Given the description of an element on the screen output the (x, y) to click on. 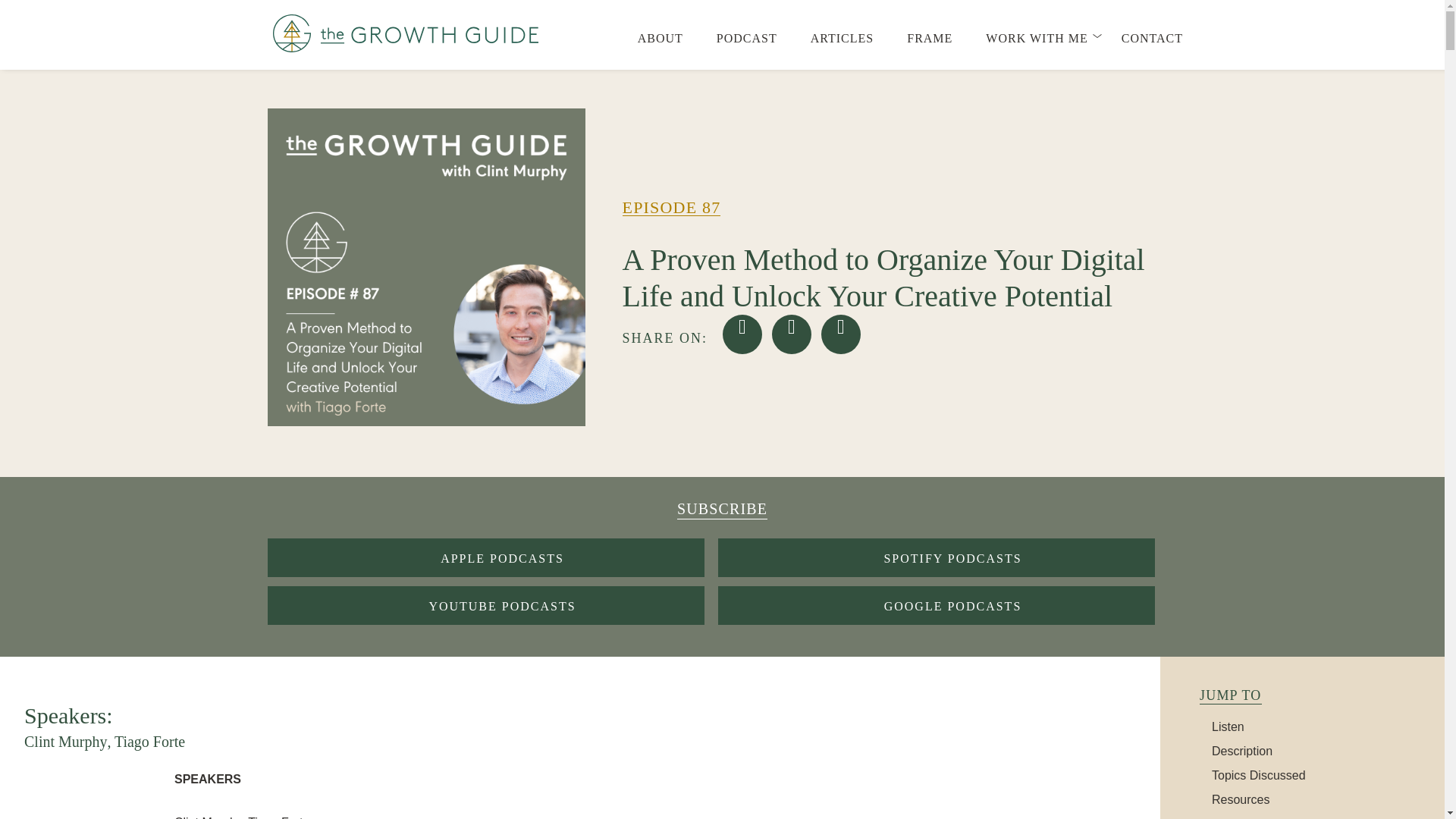
APPLE PODCASTS (484, 557)
SPOTIFY PODCASTS (935, 557)
Description (1241, 750)
ARTICLES (841, 41)
YOUTUBE PODCASTS (484, 605)
Topics Discussed (1258, 775)
PODCAST (746, 41)
Connect with Guest (1264, 818)
CONTACT (1151, 41)
Resources (1240, 799)
